Given the description of an element on the screen output the (x, y) to click on. 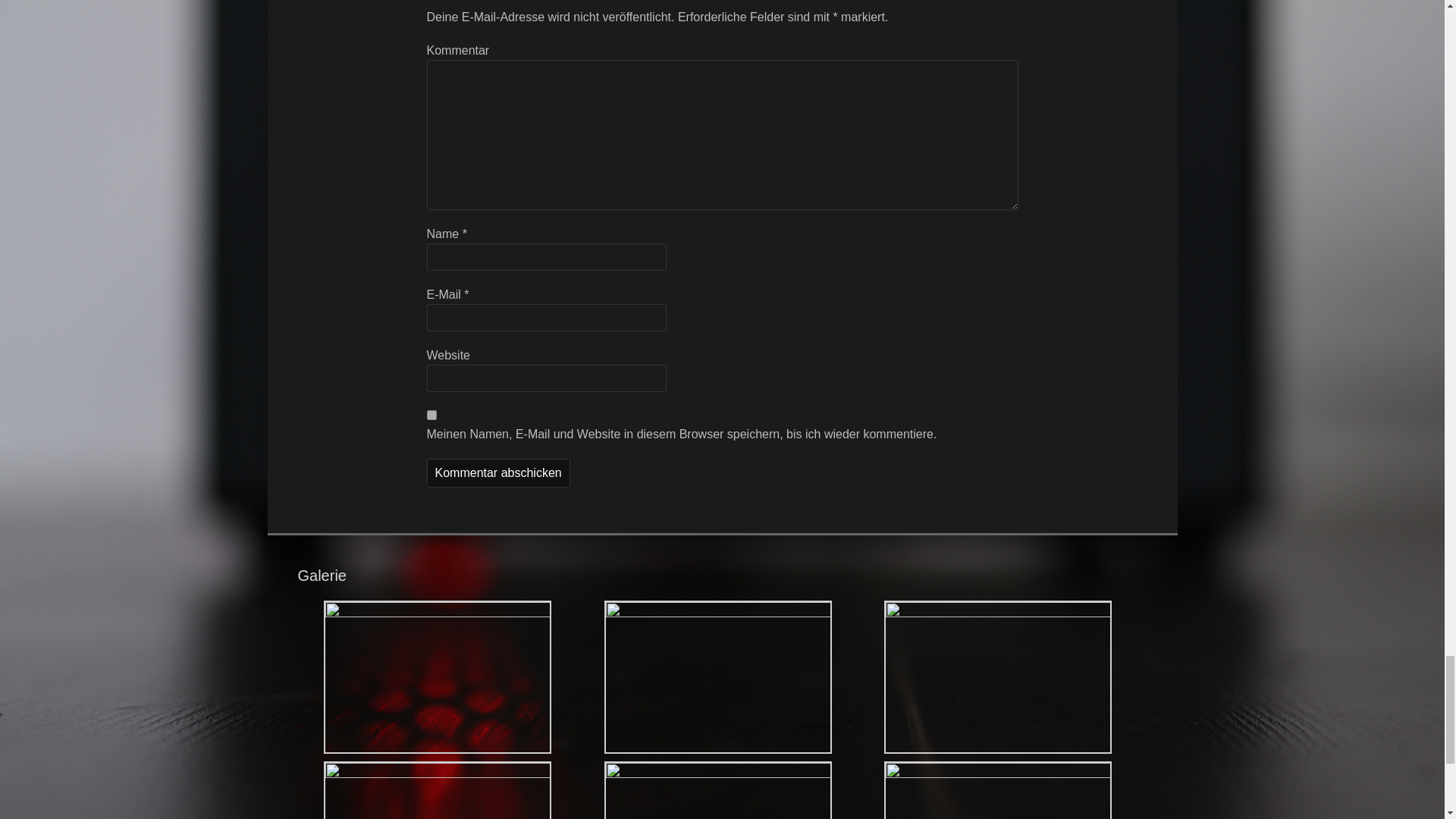
yes (430, 415)
Kommentar abschicken (497, 472)
Kommentar abschicken (497, 472)
